Given the description of an element on the screen output the (x, y) to click on. 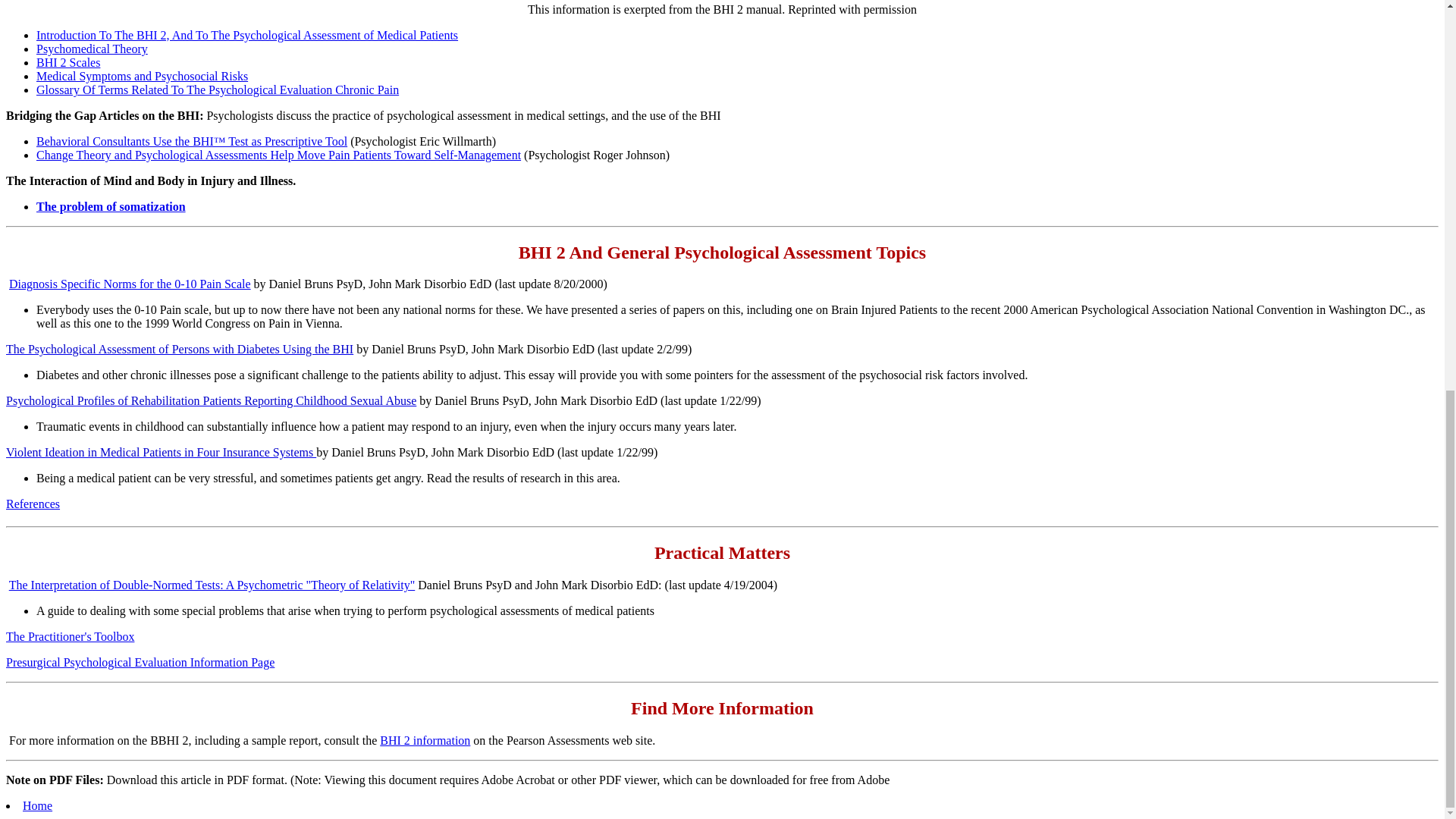
The Practitioner's Toolbox (69, 635)
Medical Symptoms and Psychosocial Risks (141, 75)
The problem of somatization (111, 205)
Diagnosis Specific Norms for the 0-10 Pain Scale (129, 283)
Home (37, 805)
BHI 2 information (425, 739)
Psychomedical Theory (92, 48)
BHI 2 Scales (68, 62)
